Given the description of an element on the screen output the (x, y) to click on. 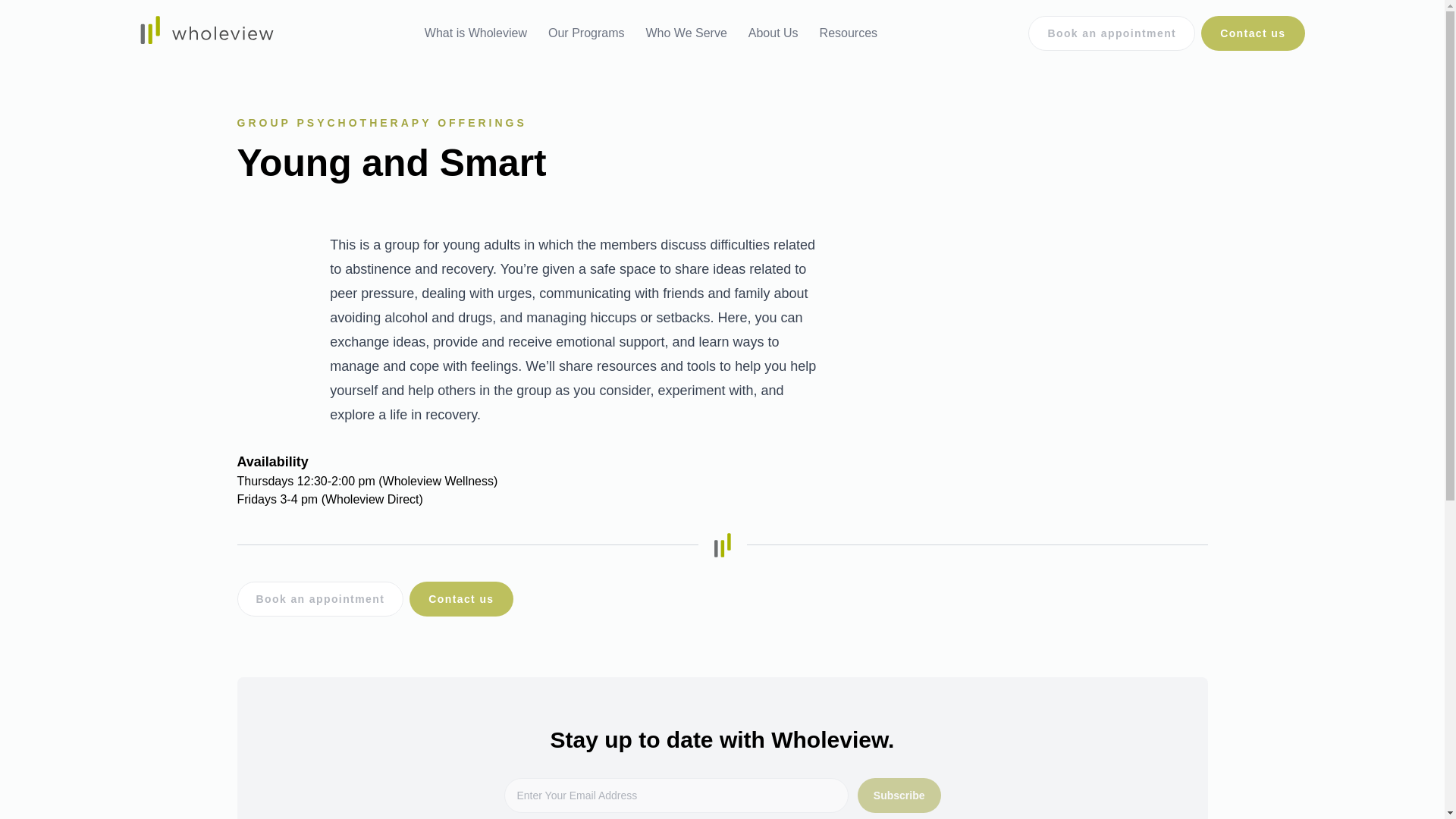
Book an appointment (1111, 32)
Subscribe (898, 795)
What is Wholeview (475, 33)
About Us (773, 33)
Contact us (1252, 32)
Subscribe (898, 795)
Wholeview (206, 32)
Contact us (460, 598)
Book an appointment (319, 598)
Who We Serve (685, 33)
